Given the description of an element on the screen output the (x, y) to click on. 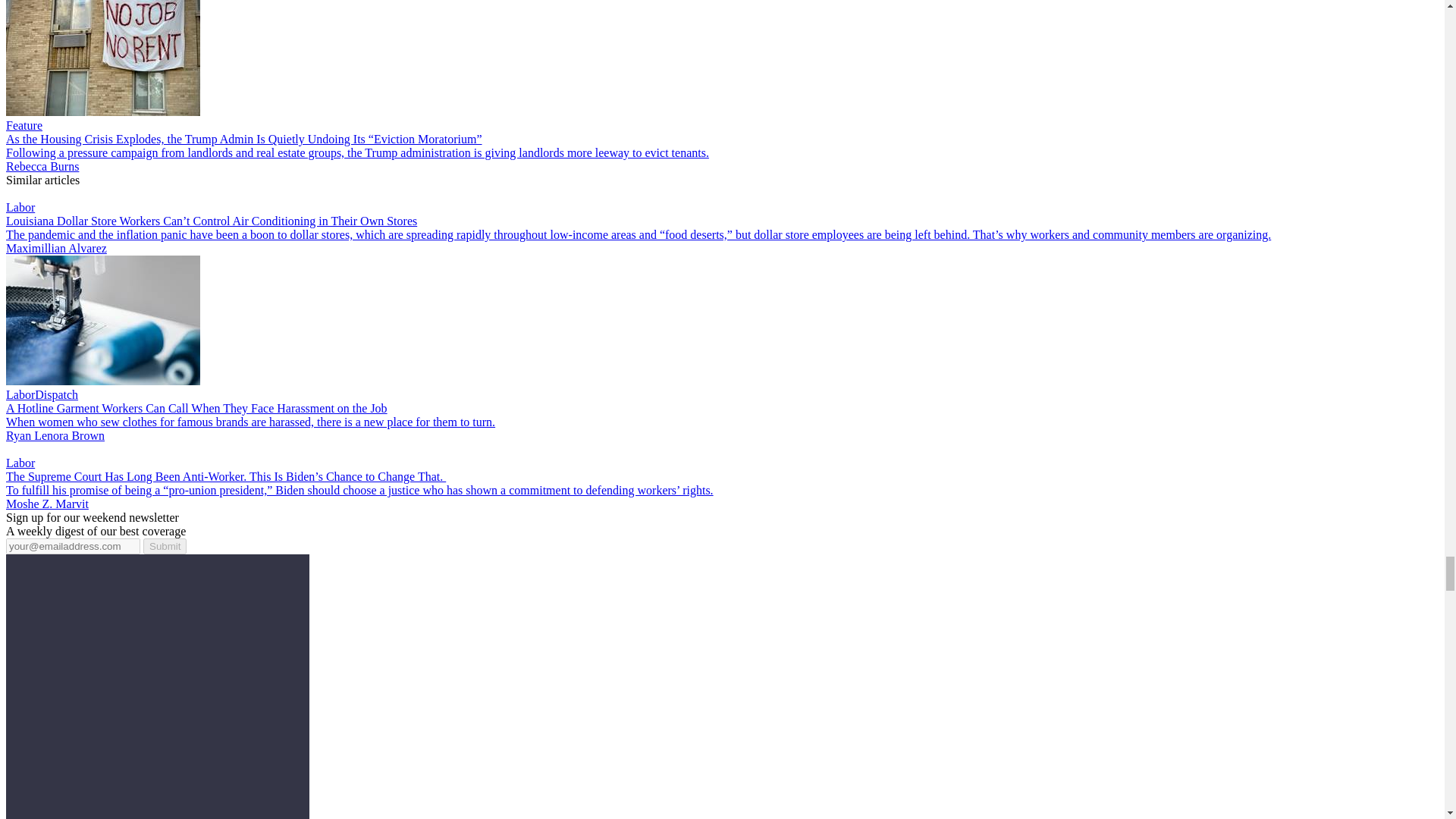
Submit (164, 546)
